Given the description of an element on the screen output the (x, y) to click on. 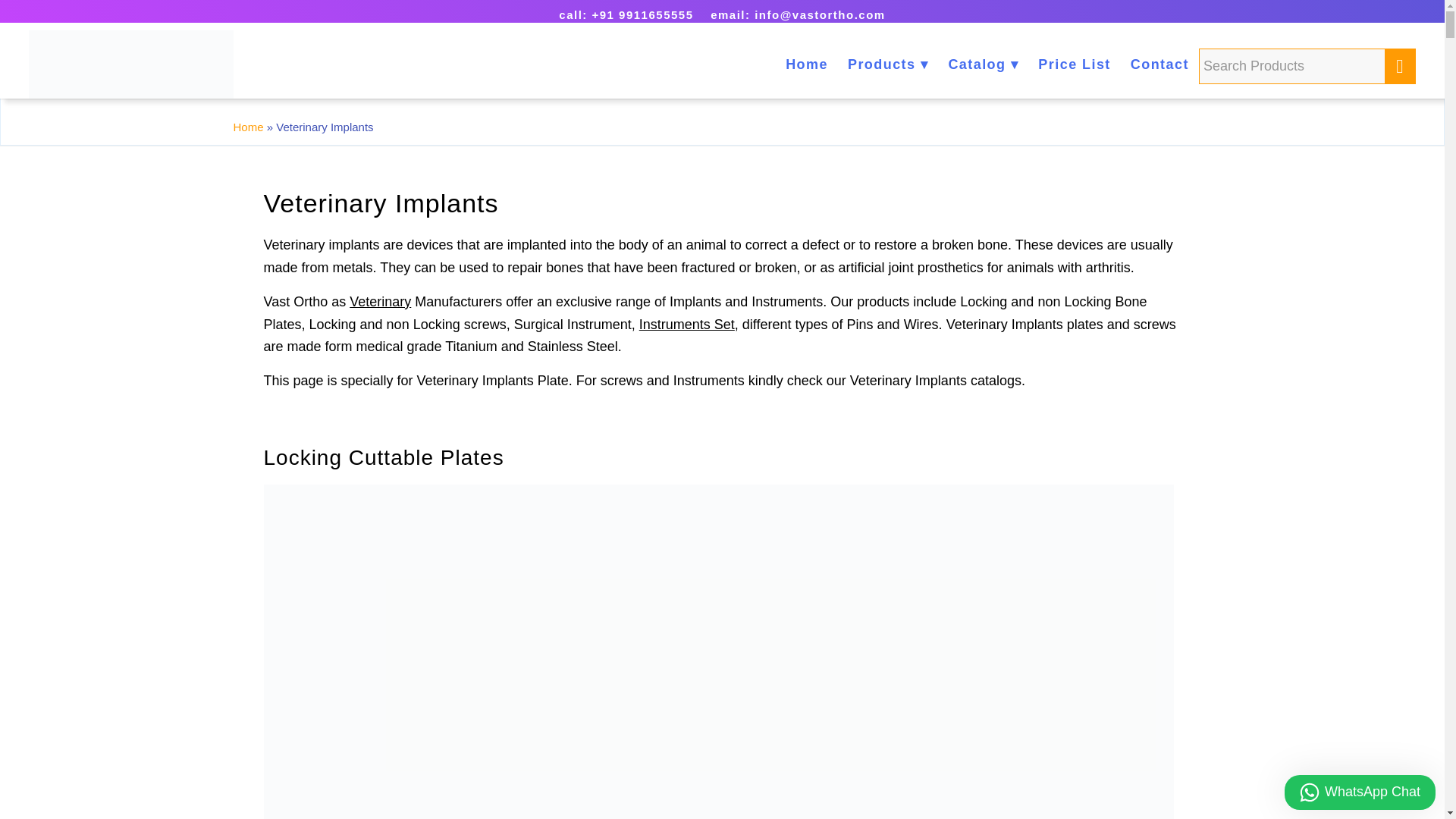
Home (247, 126)
Price List (1073, 64)
Veterinary (379, 301)
Products (887, 64)
Contact (1159, 64)
Vast Ortho Logo for website (130, 64)
Home (807, 64)
Catalog (982, 64)
Instruments Set (687, 324)
